Given the description of an element on the screen output the (x, y) to click on. 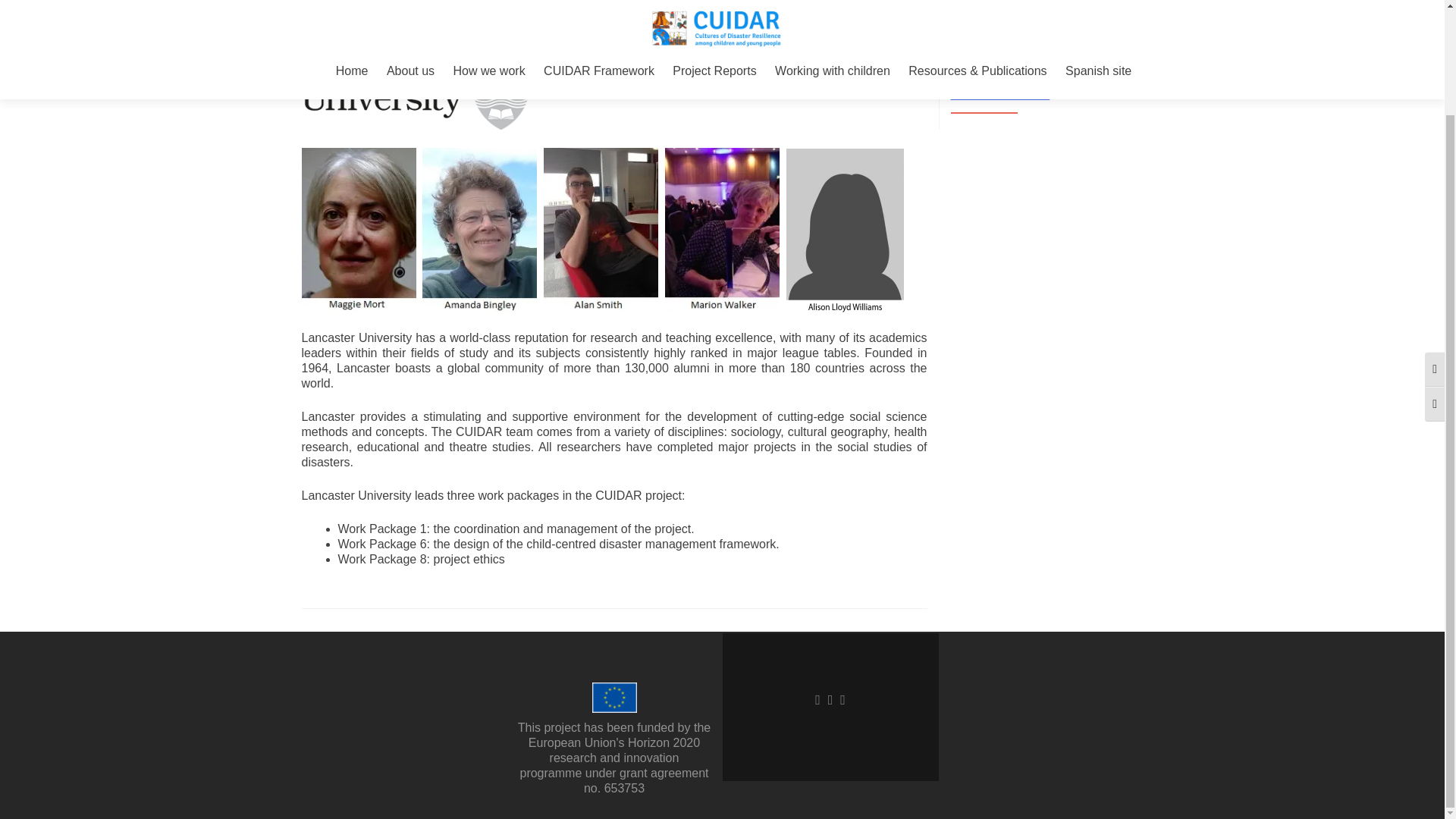
Search (1125, 39)
Search (1125, 39)
